Given the description of an element on the screen output the (x, y) to click on. 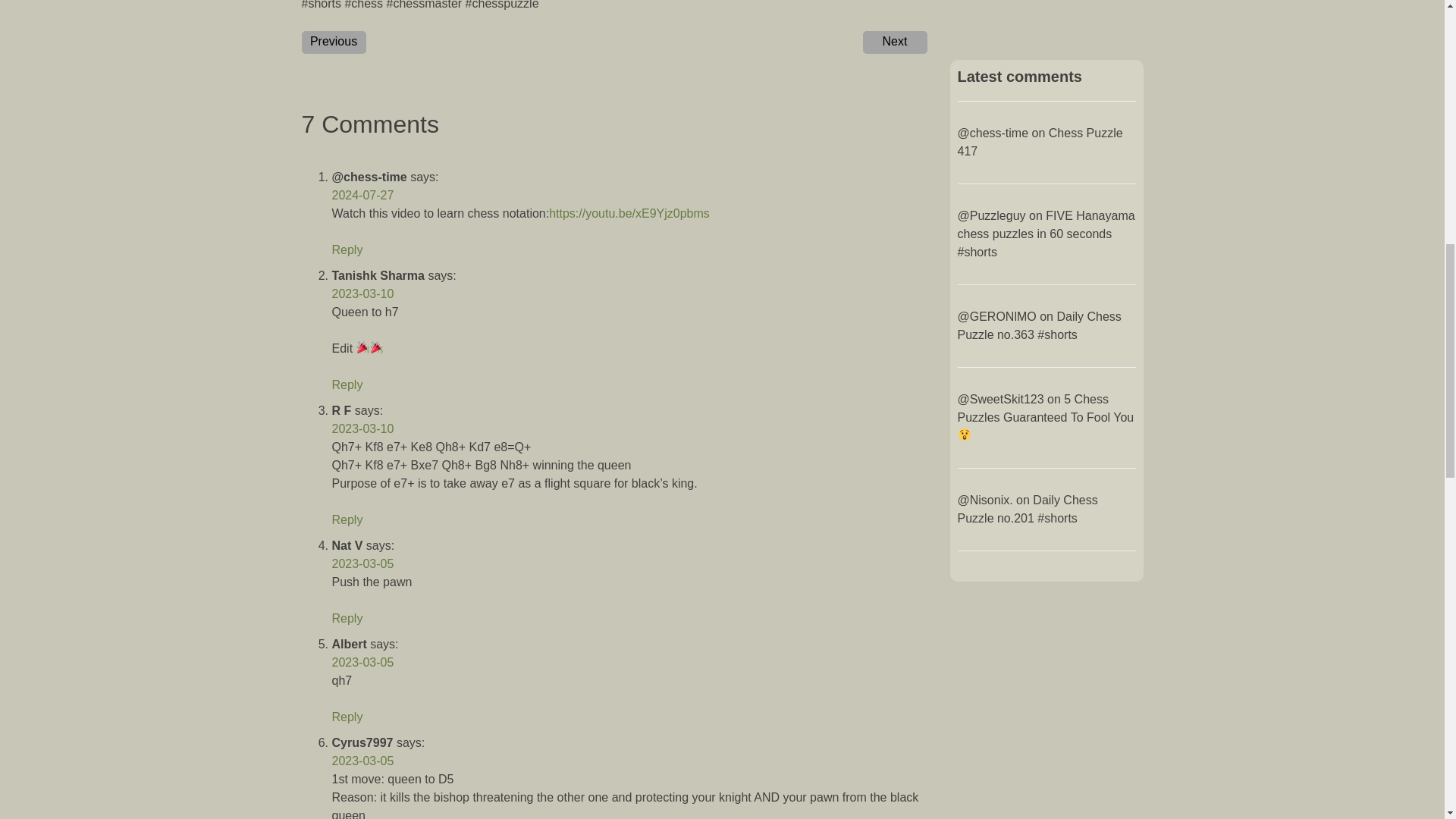
Reply (346, 384)
2024-07-27 (362, 195)
2023-03-05 (362, 662)
Chess Puzzle 417 (1039, 142)
Reply (346, 617)
Next (895, 42)
5 Chess Puzzles Guaranteed To Fool You (1045, 417)
Reply (346, 716)
2023-03-05 (362, 760)
2023-03-10 (362, 428)
Reply (346, 519)
2023-03-05 (362, 563)
Previous (333, 42)
2023-03-10 (362, 293)
Reply (346, 249)
